Given the description of an element on the screen output the (x, y) to click on. 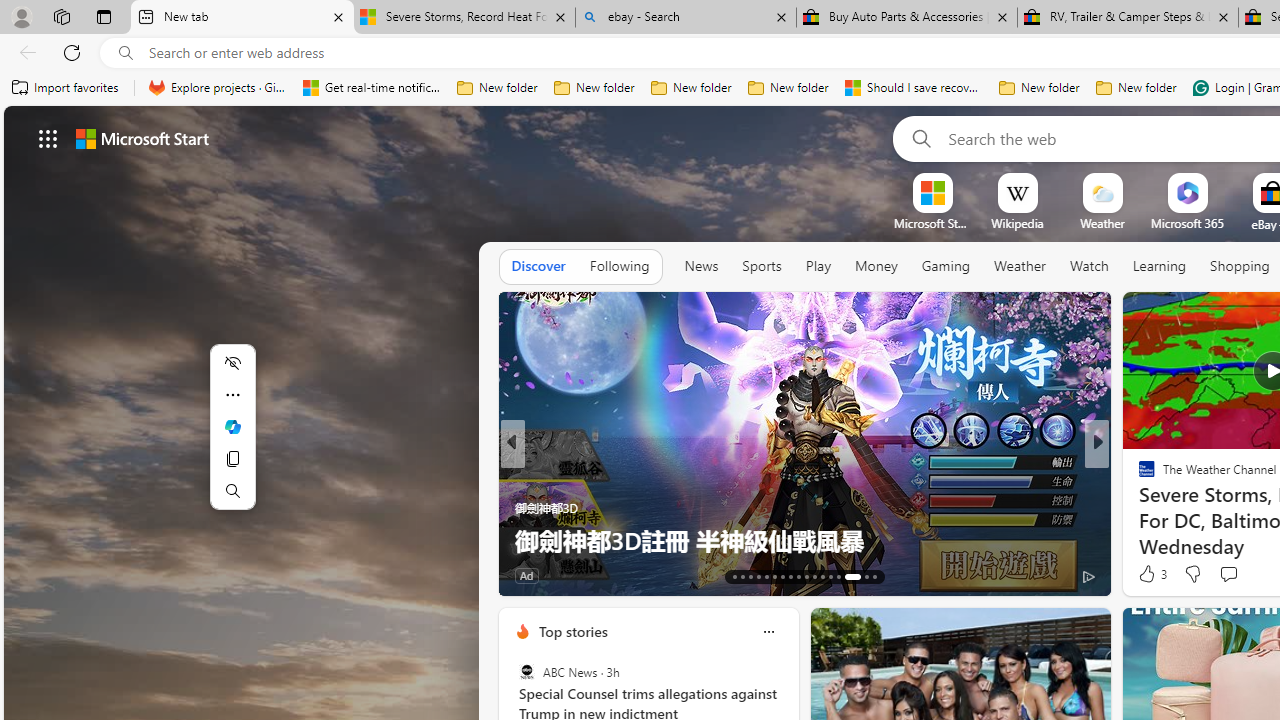
Class: icon-img (768, 632)
New folder (1136, 88)
Ad Choice (479, 575)
Start the conversation (1227, 574)
Workspaces (61, 16)
News (701, 267)
AutomationID: tab-25 (829, 576)
App launcher (47, 138)
AutomationID: tab-23 (814, 576)
AutomationID: tab-27 (846, 576)
Learning (1159, 267)
3 Like (1151, 574)
AutomationID: tab-29 (874, 576)
Discover (538, 267)
AutomationID: tab-19 (782, 576)
